Given the description of an element on the screen output the (x, y) to click on. 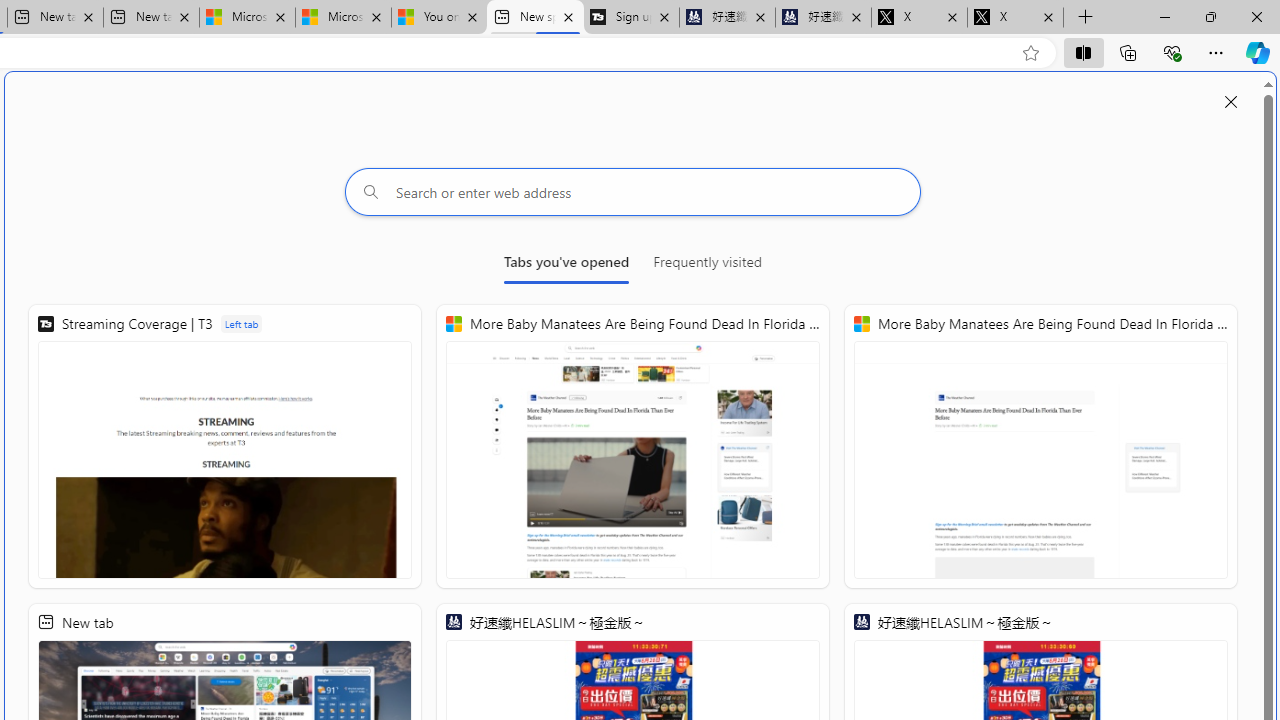
Tabs you've opened (566, 265)
New split screen (534, 17)
